Given the description of an element on the screen output the (x, y) to click on. 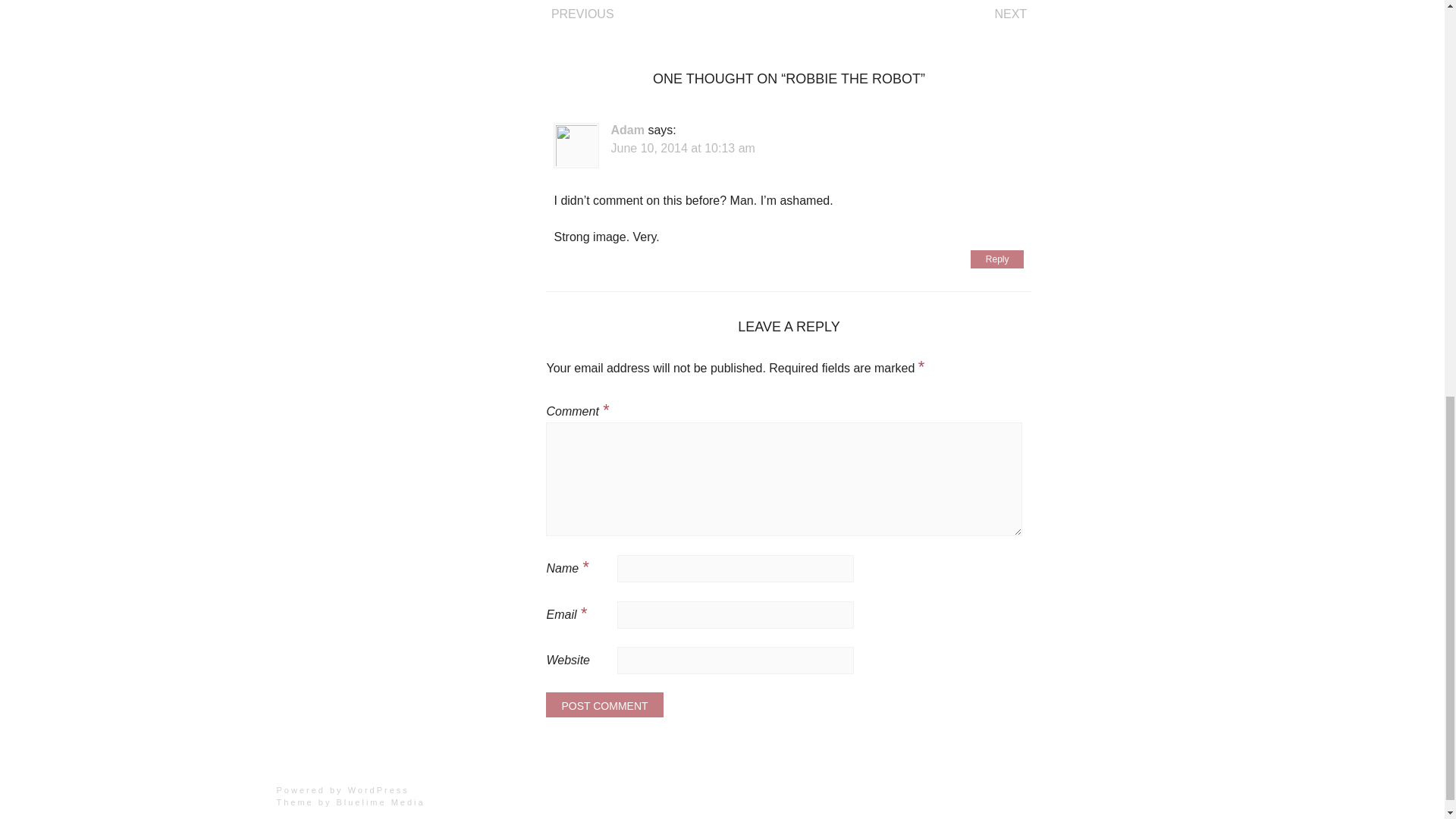
Reply (998, 259)
Adam (626, 129)
PREVIOUS (582, 13)
NEXT (1010, 13)
Post Comment (604, 704)
June 10, 2014 at 10:13 am (682, 147)
Powered by WordPress (342, 789)
Post Comment (604, 704)
Bluelime Media (380, 801)
